Given the description of an element on the screen output the (x, y) to click on. 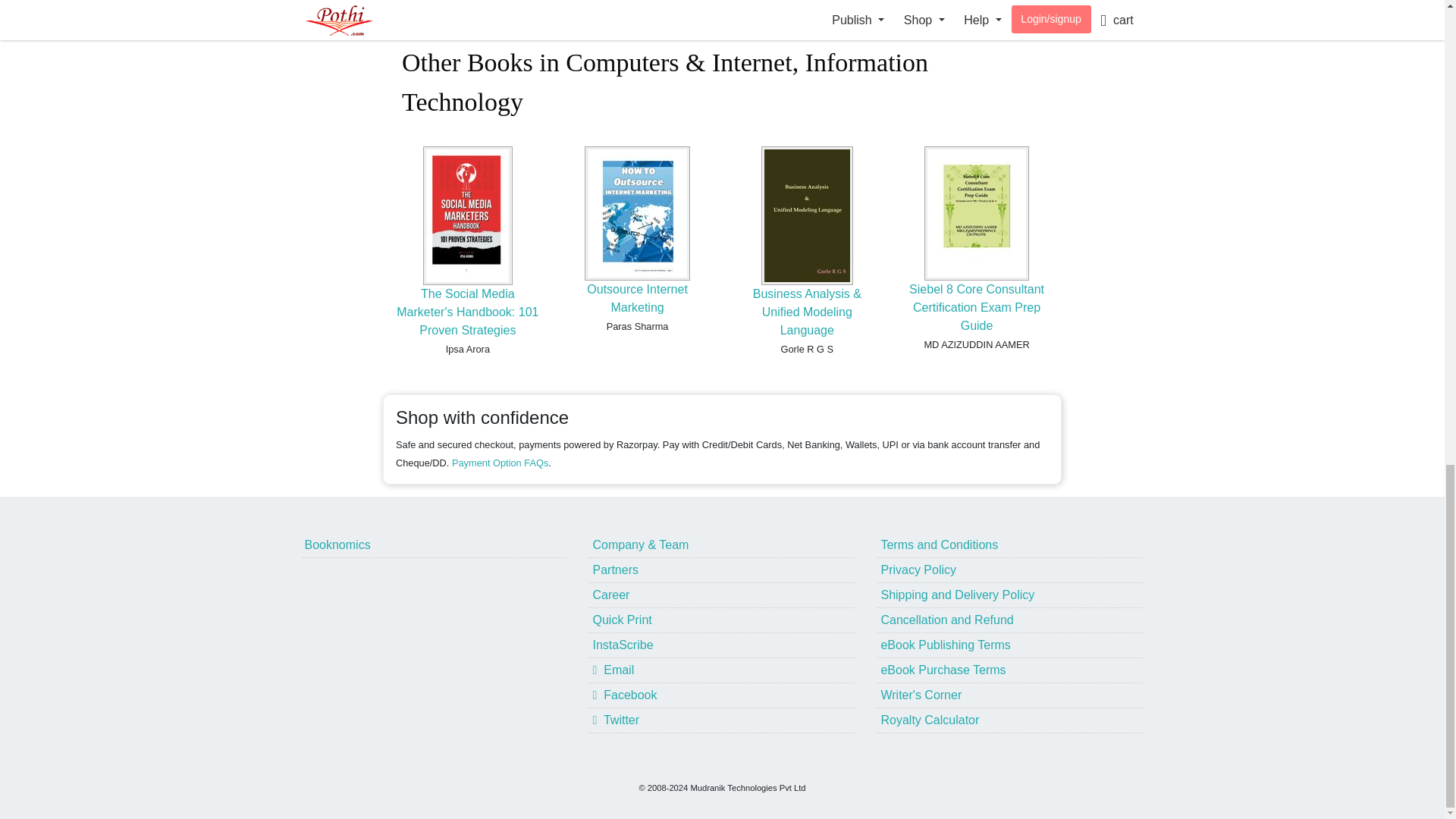
Outsource Internet Marketing (636, 297)
The Social Media Marketer's Handbook: 101 Proven Strategies (467, 311)
Outsource Internet Marketing (636, 297)
The Social Media Marketer's Handbook: 101 Proven Strategies (467, 311)
Siebel 8 Core Consultant Certification Exam Prep Guide (975, 307)
